Given the description of an element on the screen output the (x, y) to click on. 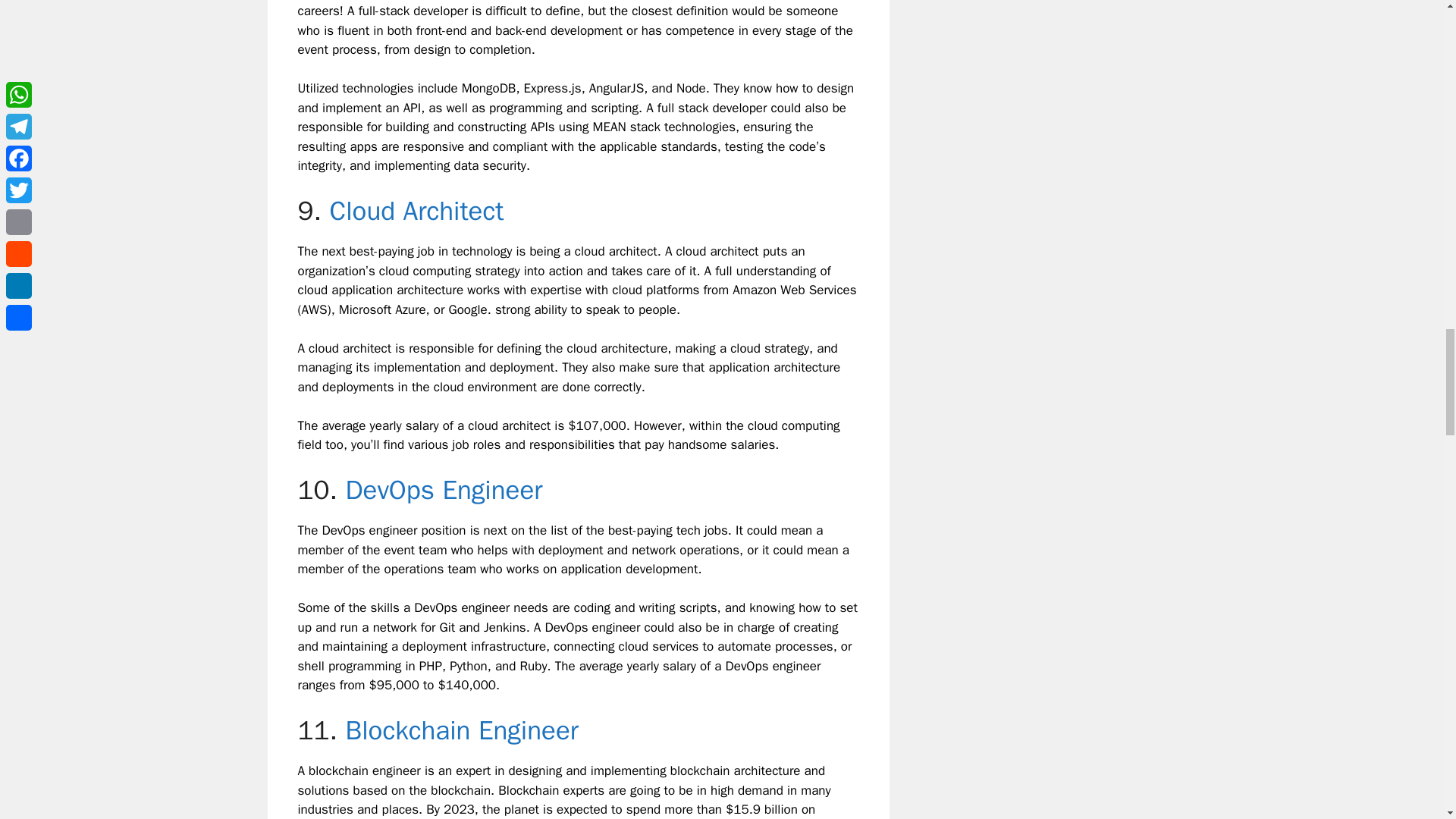
Blockchain Engineer (461, 729)
DevOps Engineer (443, 489)
Cloud Architect (416, 210)
